Given the description of an element on the screen output the (x, y) to click on. 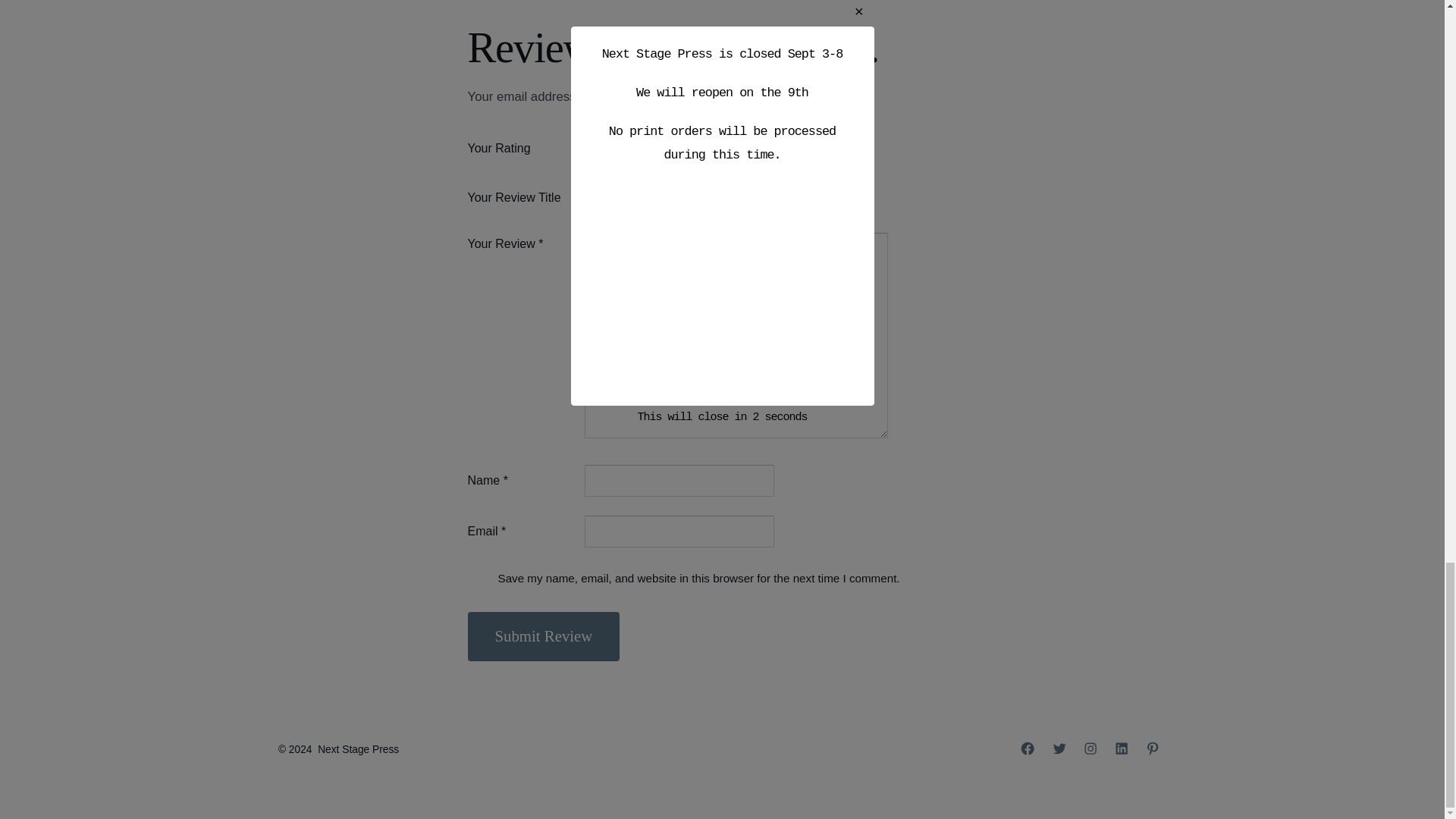
Open Twitter in a new tab (1059, 748)
Submit Review (543, 636)
Submit Review (543, 636)
Open Instagram in a new tab (1090, 748)
Open Facebook in a new tab (1027, 748)
